Given the description of an element on the screen output the (x, y) to click on. 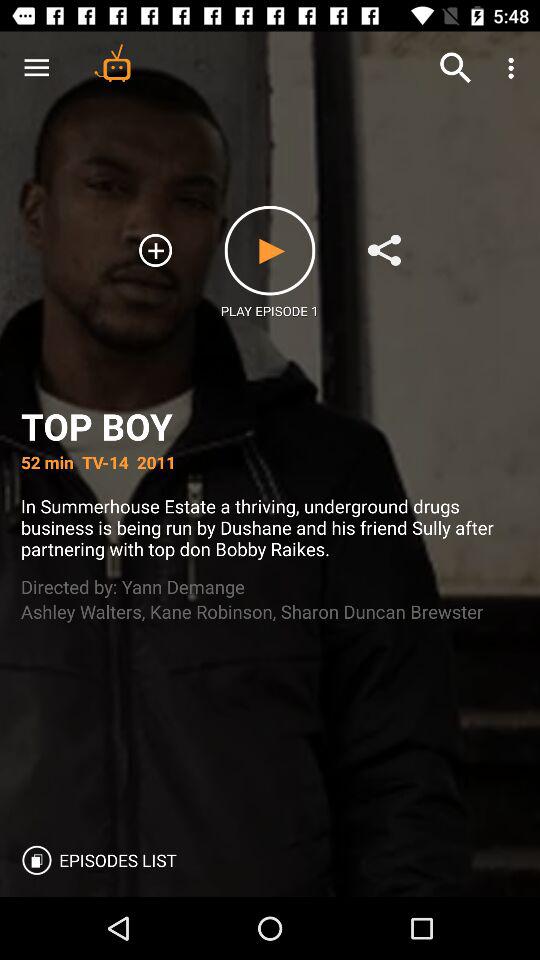
share the movie (383, 250)
